Given the description of an element on the screen output the (x, y) to click on. 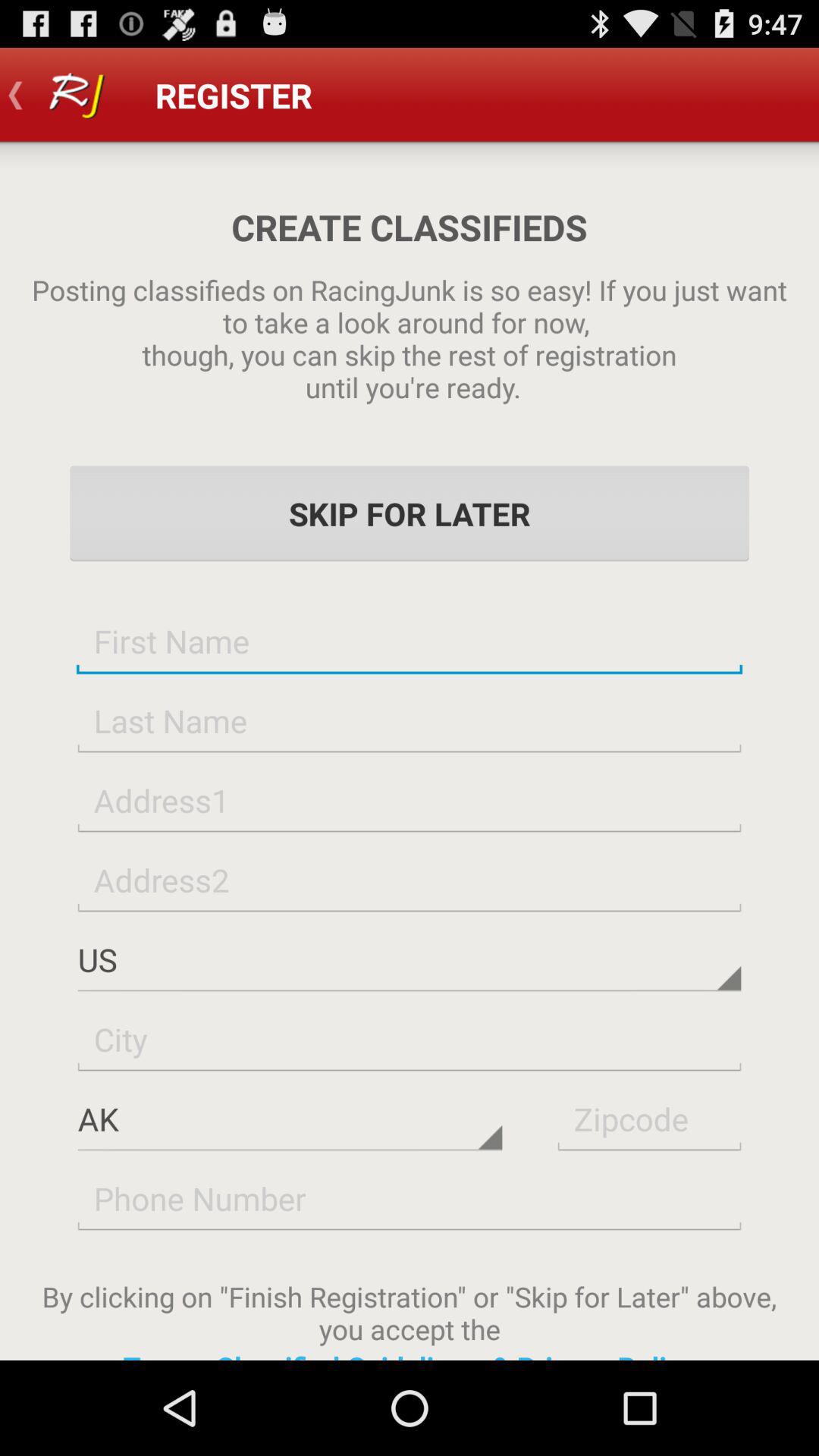
zipcode fill box (649, 1118)
